Given the description of an element on the screen output the (x, y) to click on. 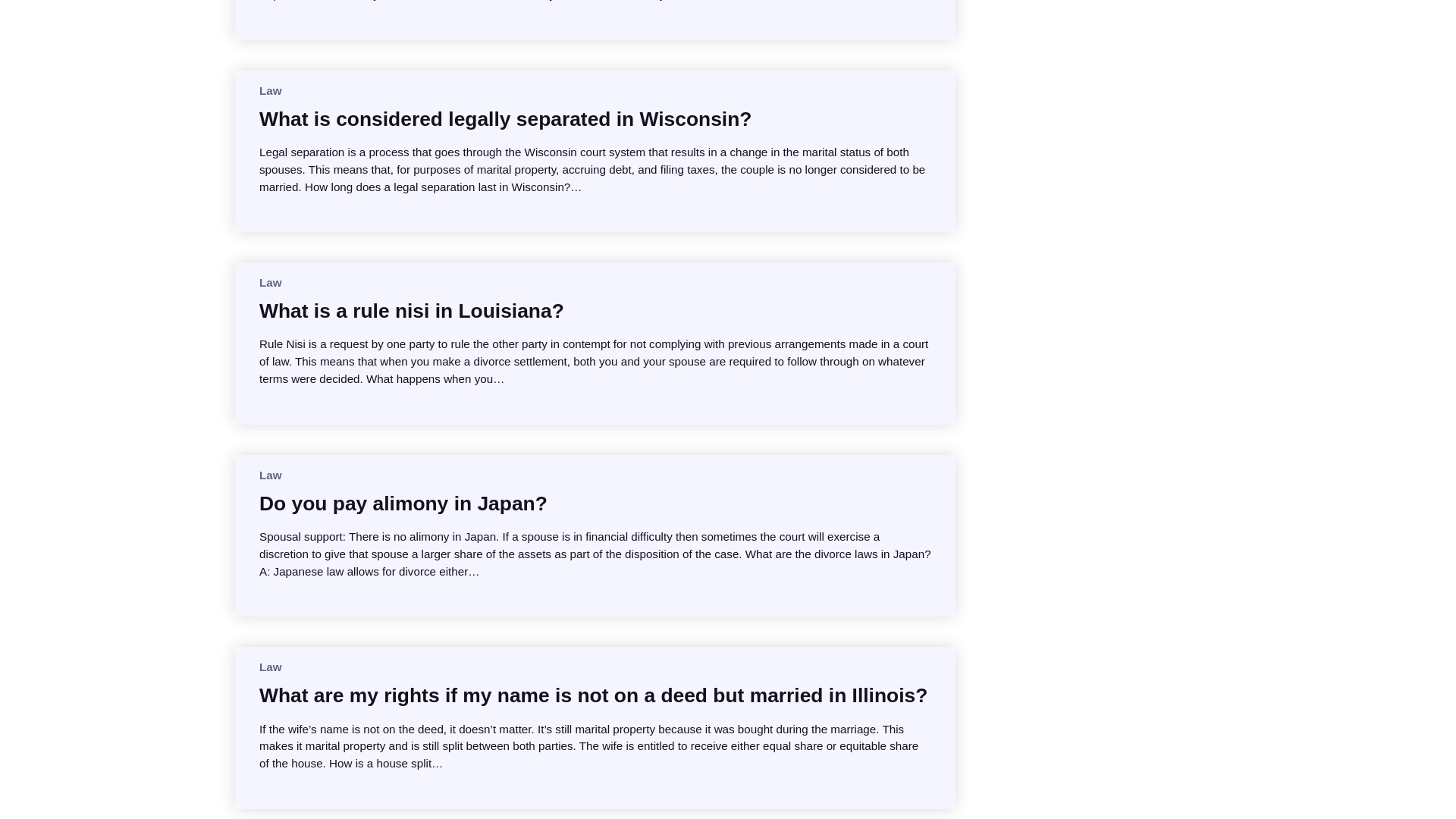
Law (270, 474)
Law (270, 90)
Do you pay alimony in Japan? (403, 503)
What is considered legally separated in Wisconsin? (505, 118)
Law (270, 282)
What is a rule nisi in Louisiana? (411, 310)
Law (270, 666)
